Given the description of an element on the screen output the (x, y) to click on. 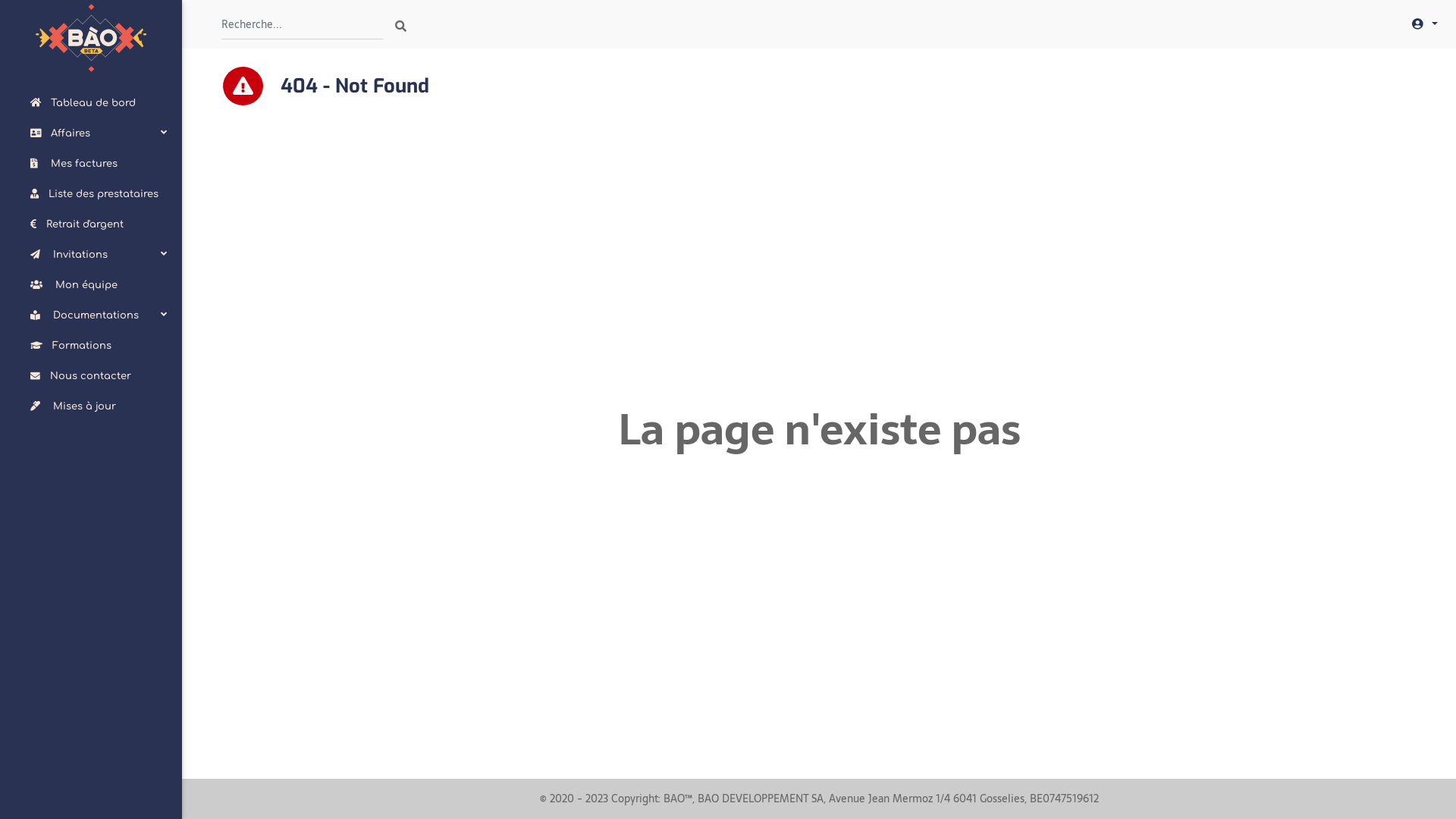
Documentations Element type: text (98, 315)
Mes factures Element type: text (98, 163)
Nous contacter Element type: text (98, 375)
Liste des prestataires Element type: text (98, 193)
Affaires Element type: text (98, 133)
Formations Element type: text (98, 345)
Retrait d'argent Element type: text (98, 224)
Tableau de bord Element type: text (98, 102)
Invitations Element type: text (98, 254)
